Given the description of an element on the screen output the (x, y) to click on. 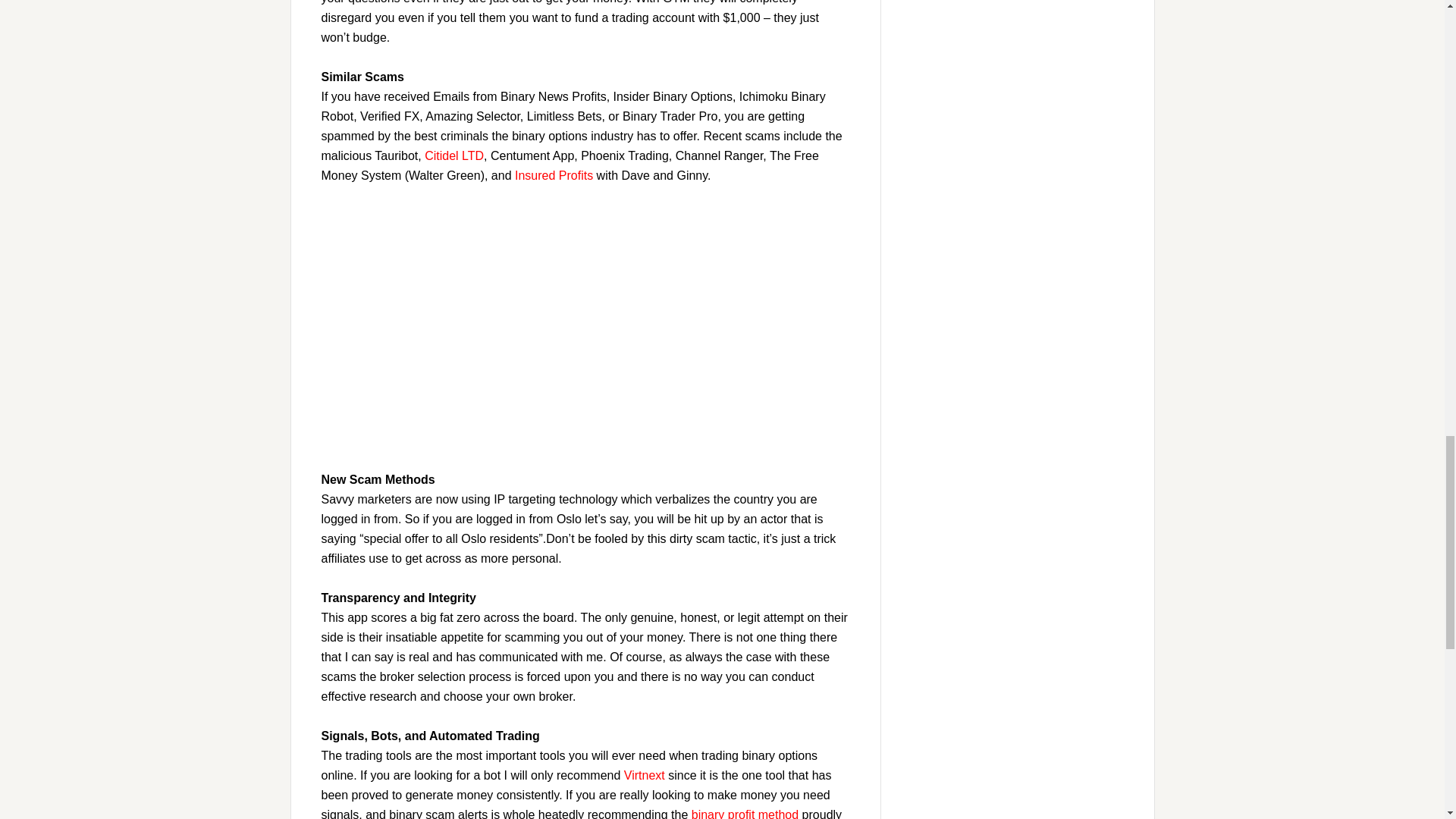
binary profit method (744, 813)
Insured Profits (553, 174)
Citidel LTD (454, 155)
Virtnext (644, 775)
